Given the description of an element on the screen output the (x, y) to click on. 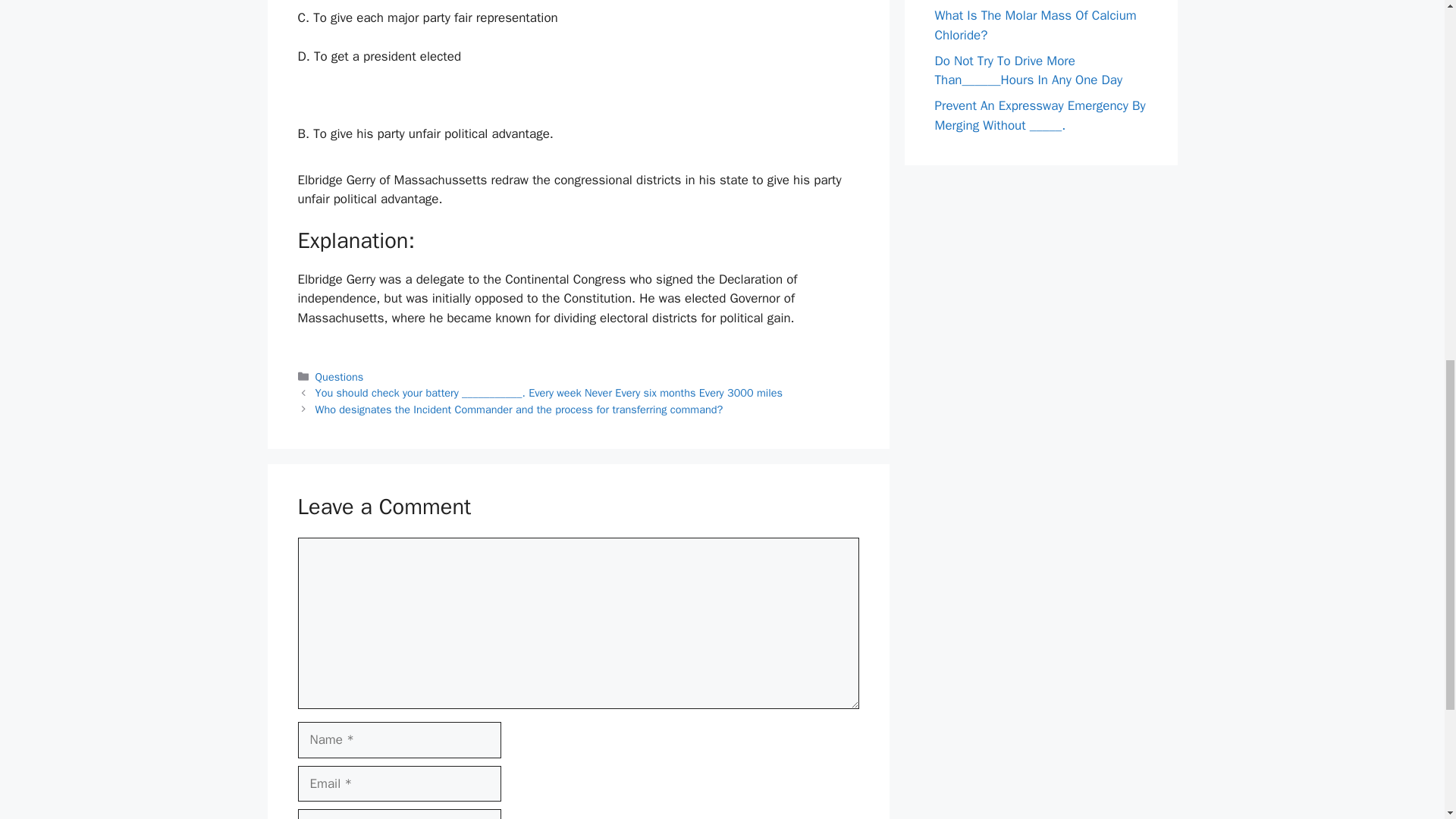
Questions (339, 377)
What Is The Molar Mass Of Calcium Chloride? (1034, 25)
